Given the description of an element on the screen output the (x, y) to click on. 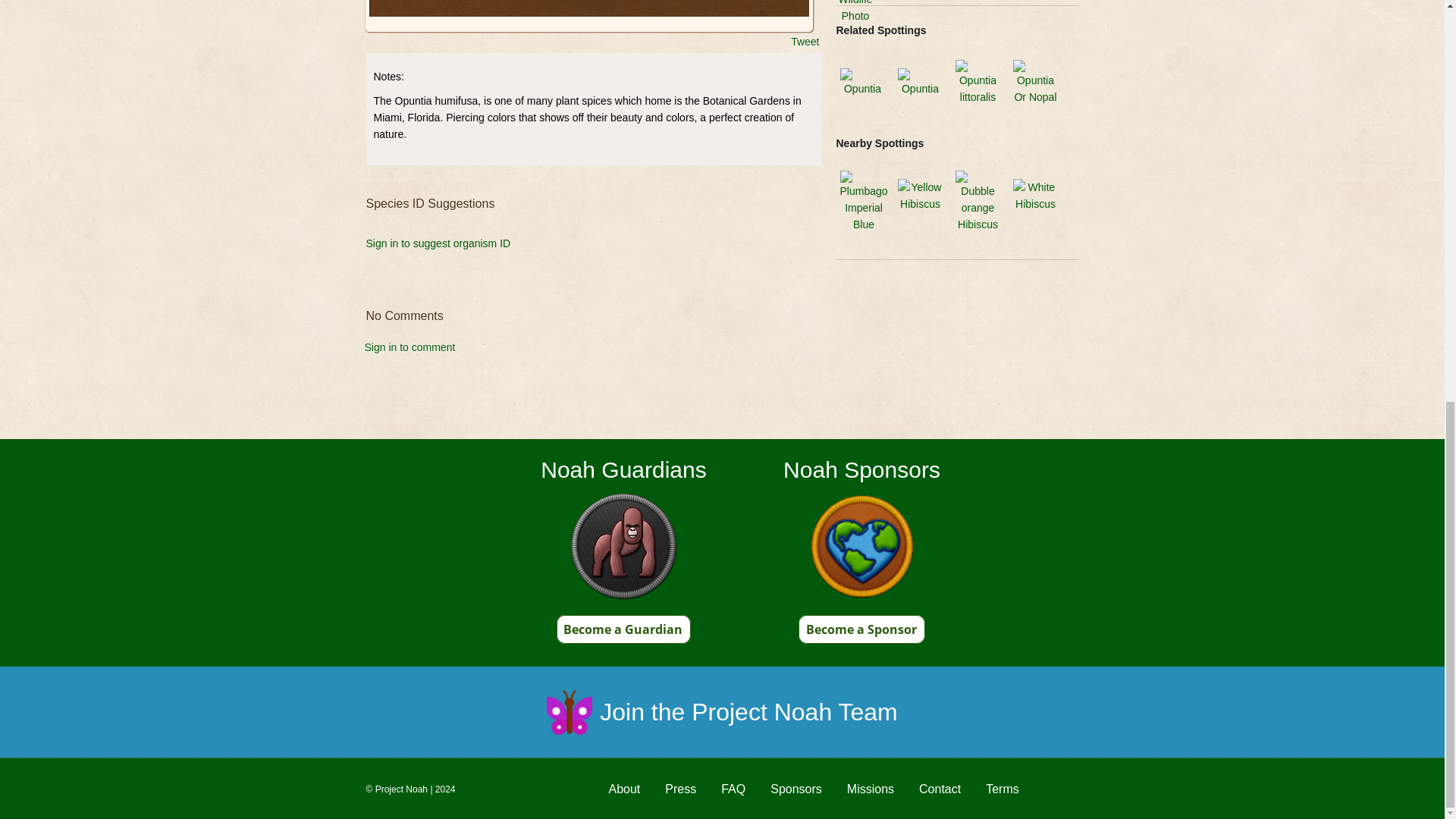
Tweet (804, 41)
Sign in to suggest organism ID (438, 243)
Sign in to comment (395, 358)
